Given the description of an element on the screen output the (x, y) to click on. 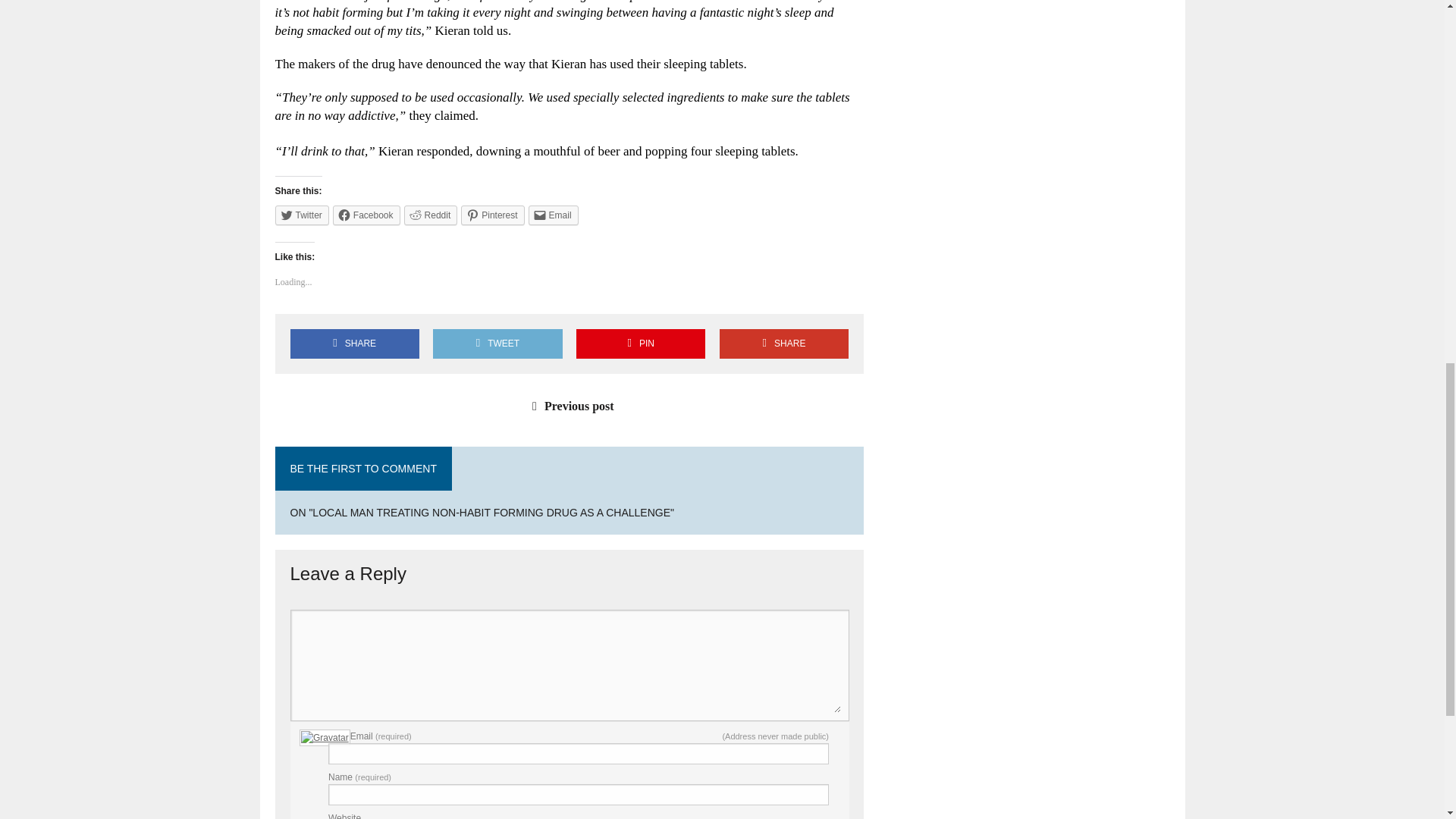
Pin This Post (640, 343)
Click to share on Facebook (366, 215)
Click to share on Reddit (431, 215)
Twitter (302, 215)
Comment Form (568, 708)
Email (553, 215)
PIN (640, 343)
Click to share on Twitter (302, 215)
SHARE (354, 343)
Tweet This Post (497, 343)
Share on Facebook (354, 343)
Click to email this to a friend (553, 215)
Click to share on Pinterest (492, 215)
Pinterest (492, 215)
TWEET (497, 343)
